Given the description of an element on the screen output the (x, y) to click on. 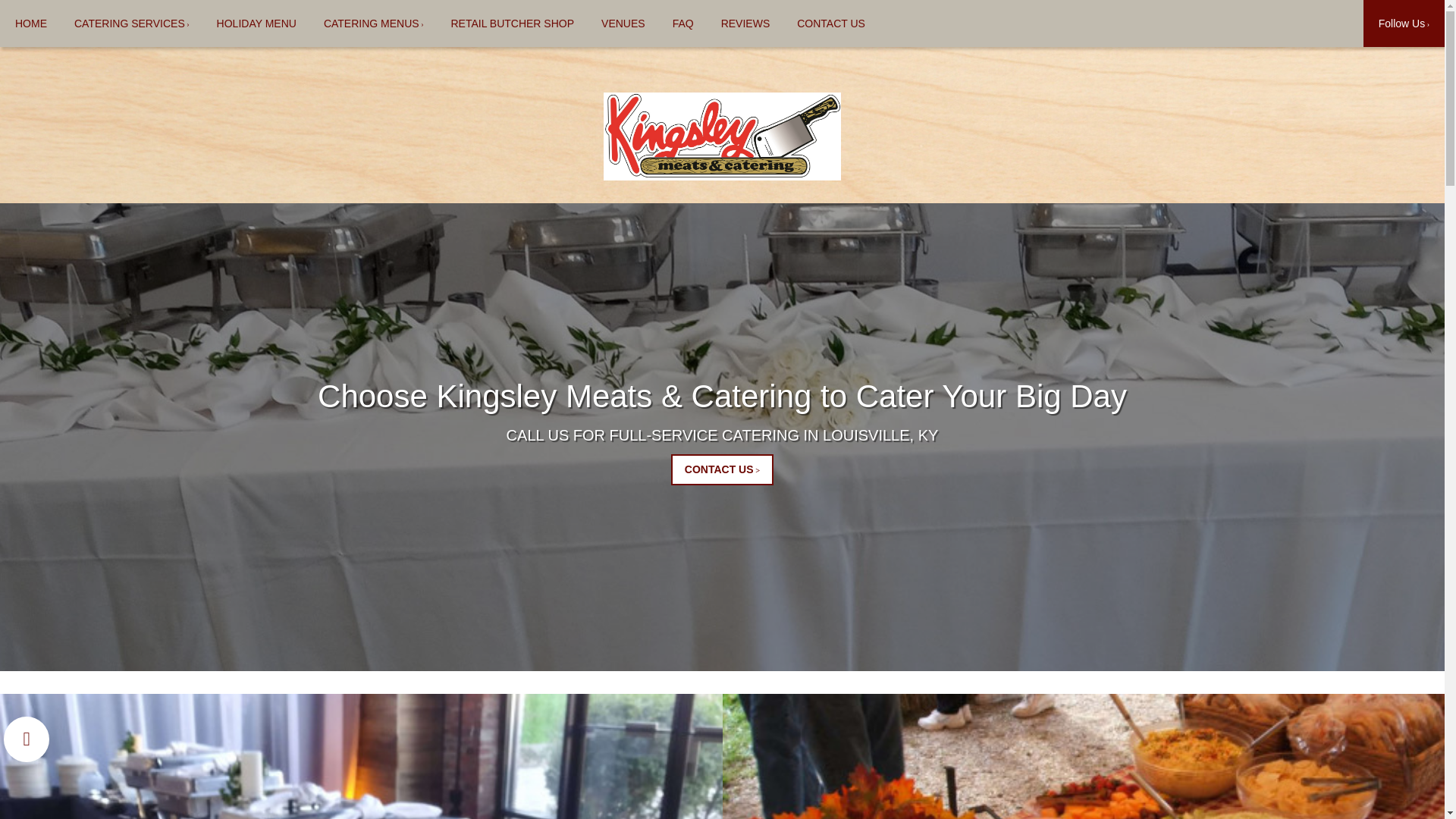
HOLIDAY MENU (256, 23)
RETAIL BUTCHER SHOP (512, 23)
CONTACT US (830, 23)
VENUES (623, 23)
REVIEWS (746, 23)
HOME (31, 23)
FAQ (683, 23)
CONTACT US (722, 469)
